Given the description of an element on the screen output the (x, y) to click on. 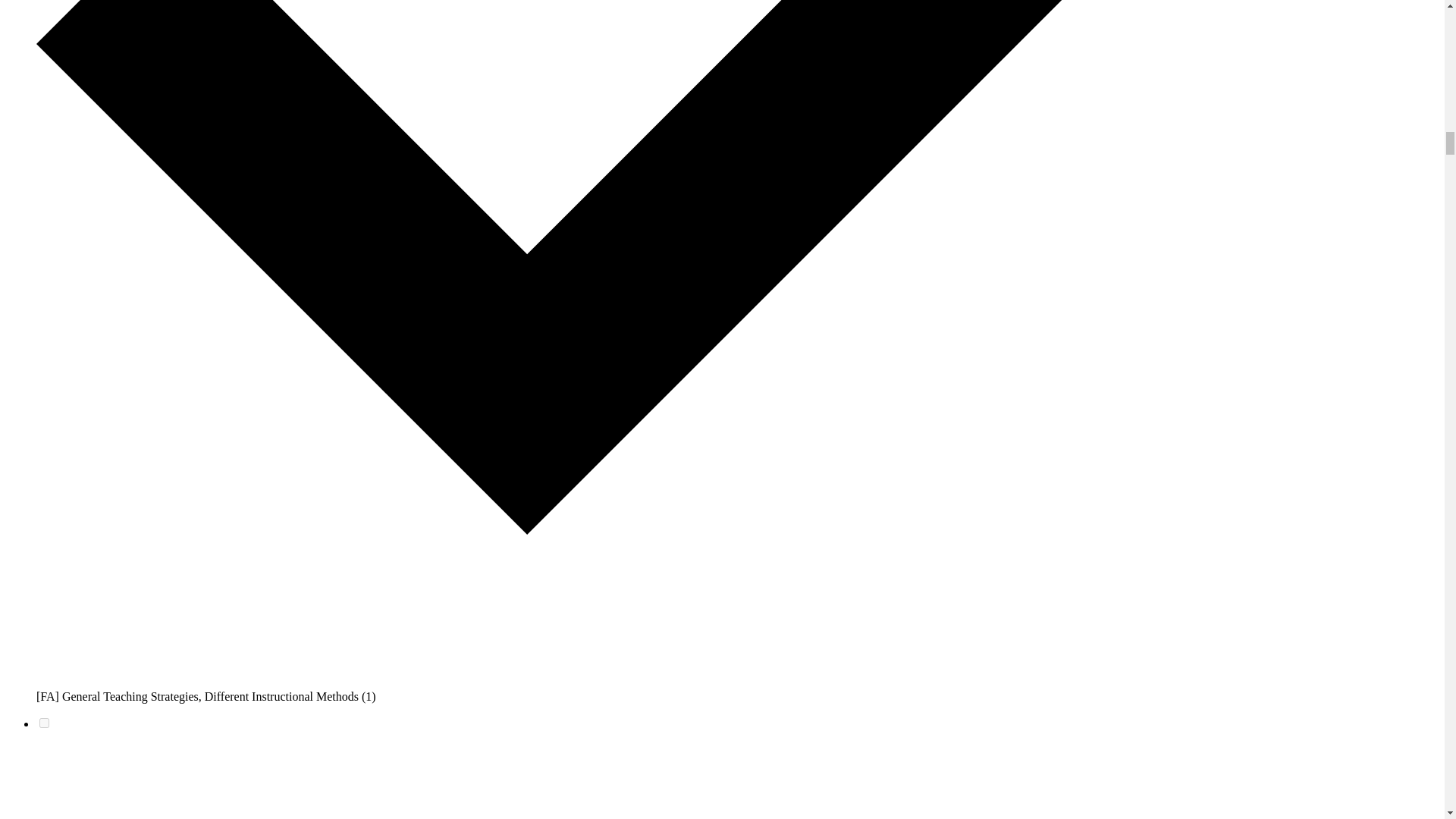
113 (44, 723)
